Given the description of an element on the screen output the (x, y) to click on. 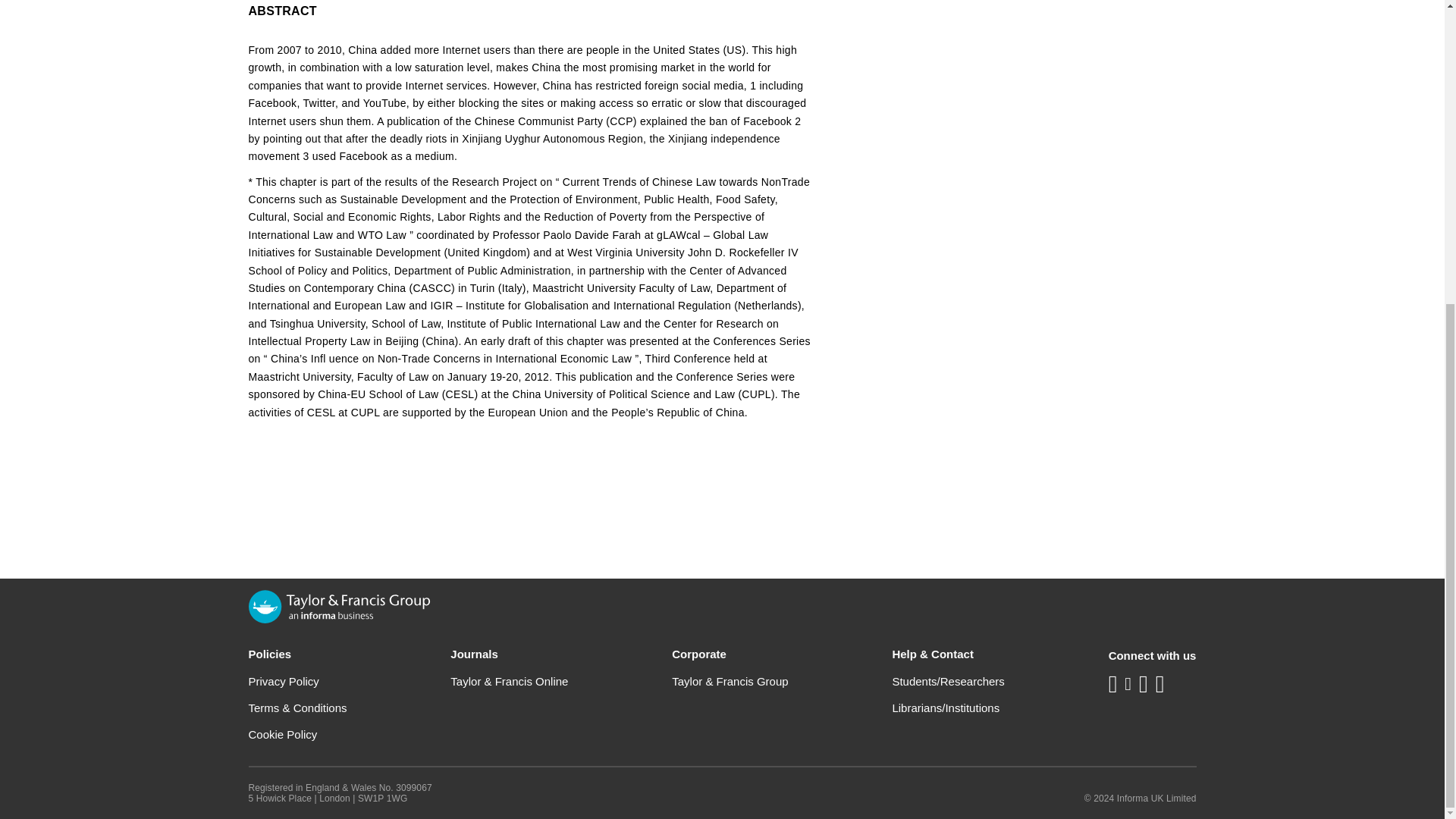
Cookie Policy (282, 734)
Privacy Policy (283, 681)
